Given the description of an element on the screen output the (x, y) to click on. 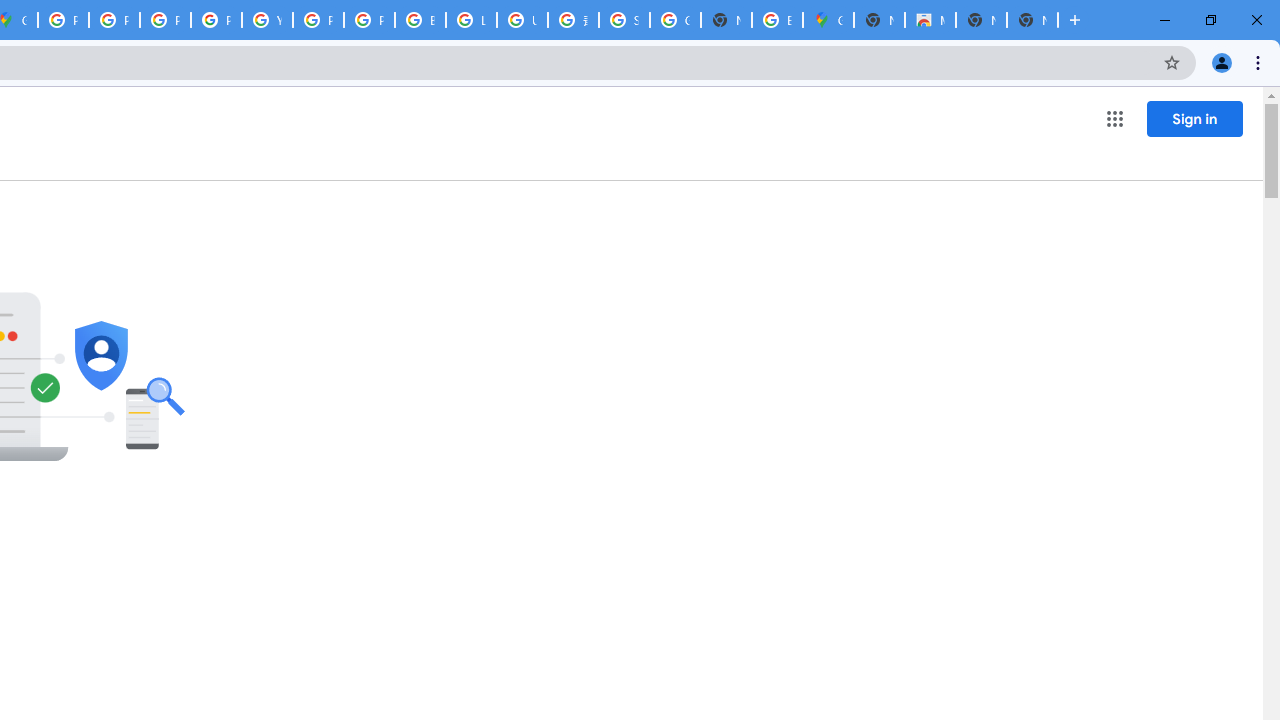
New Tab (1032, 20)
New Tab (878, 20)
Privacy Help Center - Policies Help (113, 20)
YouTube (267, 20)
Google Maps (827, 20)
